Given the description of an element on the screen output the (x, y) to click on. 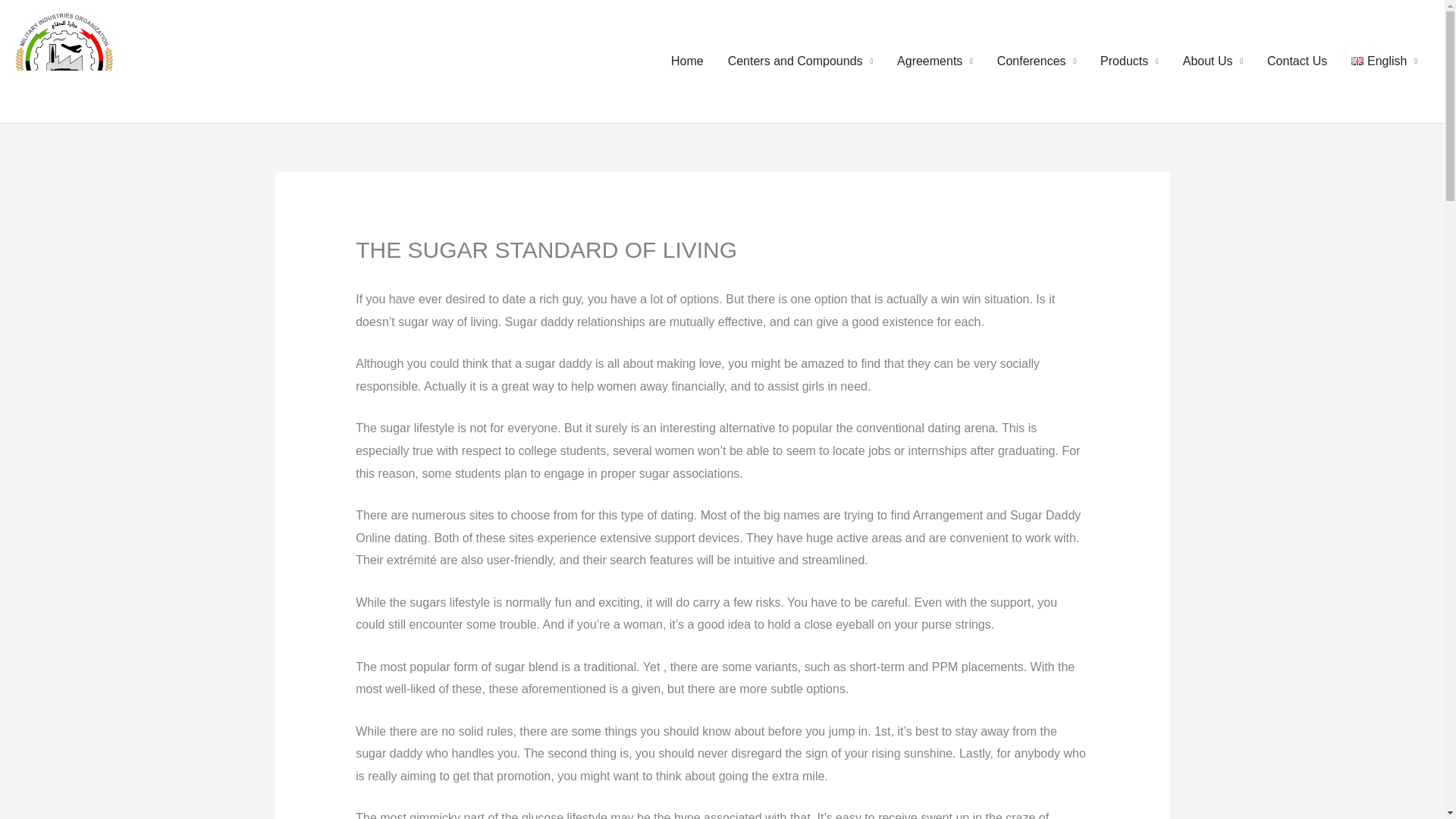
Contact Us (1297, 60)
Products (1128, 60)
English (1384, 60)
Agreements (935, 60)
Conferences (1036, 60)
Centers and Compounds (800, 60)
Home (687, 60)
About Us (1212, 60)
